Given the description of an element on the screen output the (x, y) to click on. 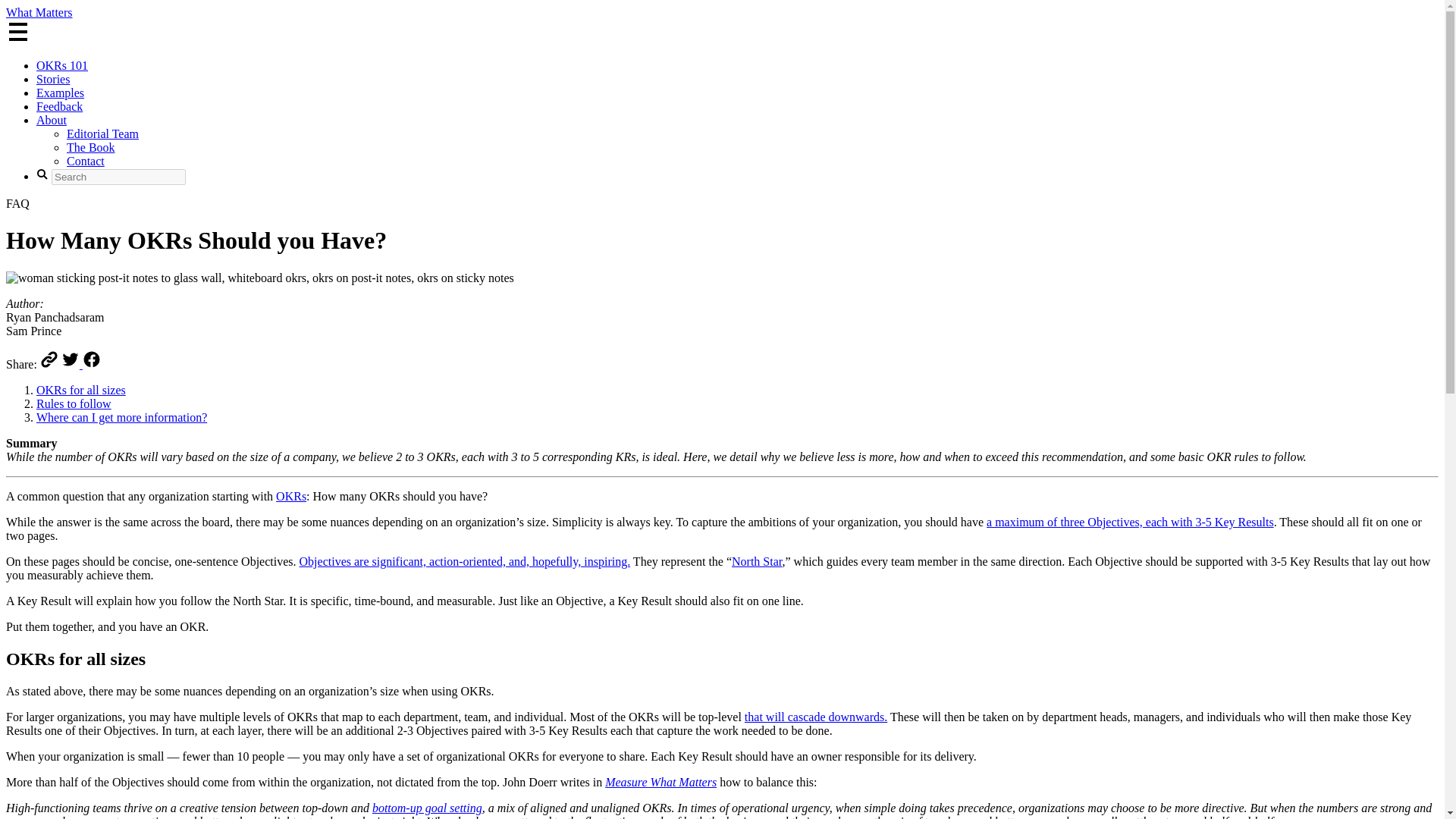
The Book (90, 146)
Feedback (59, 106)
OKRs for all sizes (80, 390)
that will cascade downwards. (815, 716)
About (51, 119)
North Star (756, 561)
Examples (60, 92)
Where can I get more information? (121, 417)
OKRs (290, 495)
Editorial Team (102, 133)
